Given the description of an element on the screen output the (x, y) to click on. 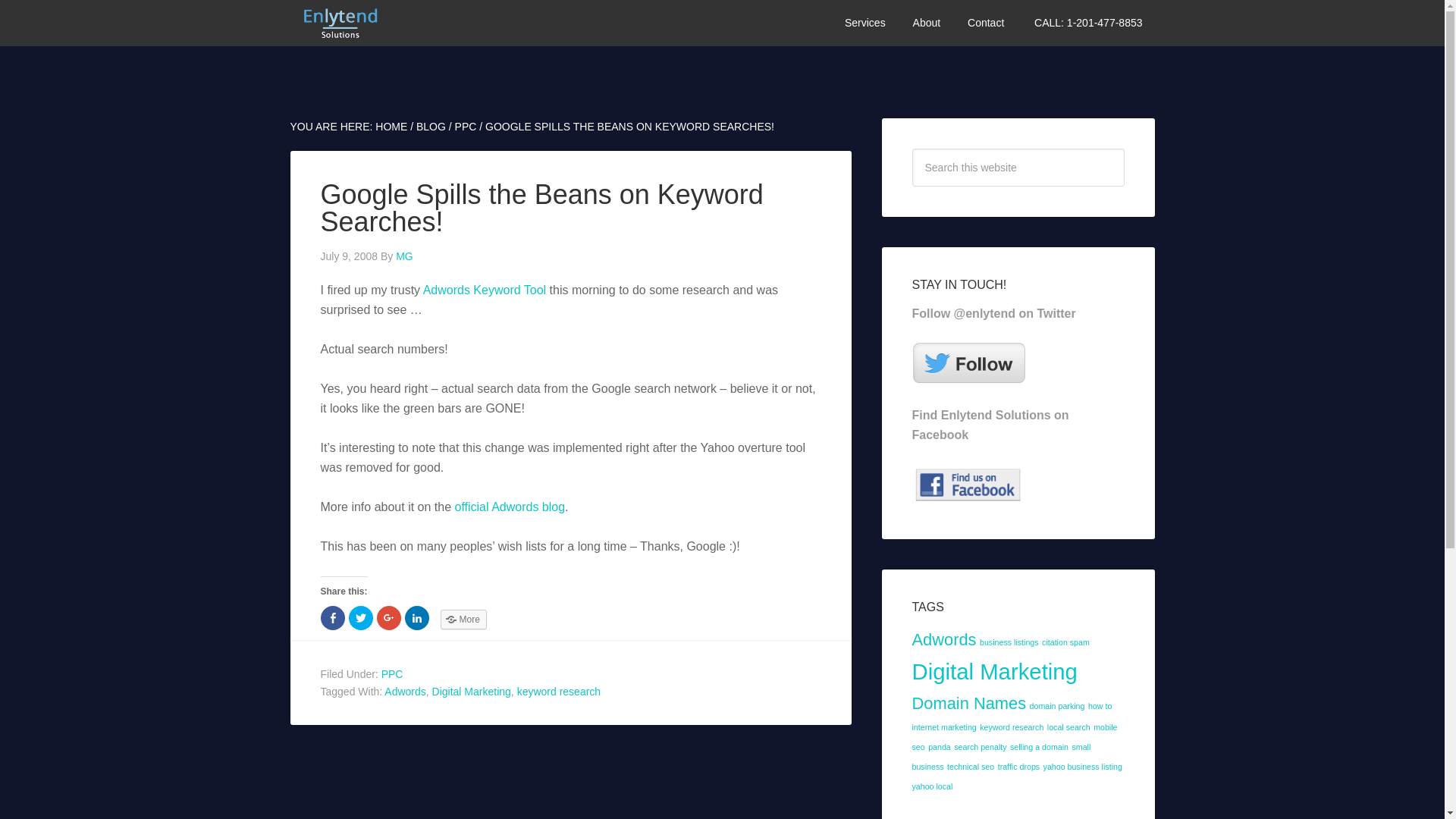
Click to share on LinkedIn (416, 617)
internet marketing (943, 727)
citation spam (1065, 642)
More (462, 619)
ENLYTEND SOLUTIONS (402, 22)
Services (865, 22)
local search (1068, 727)
Adwords Keyword Tool (484, 289)
domain parking (1056, 705)
keyword research (1011, 727)
